Given the description of an element on the screen output the (x, y) to click on. 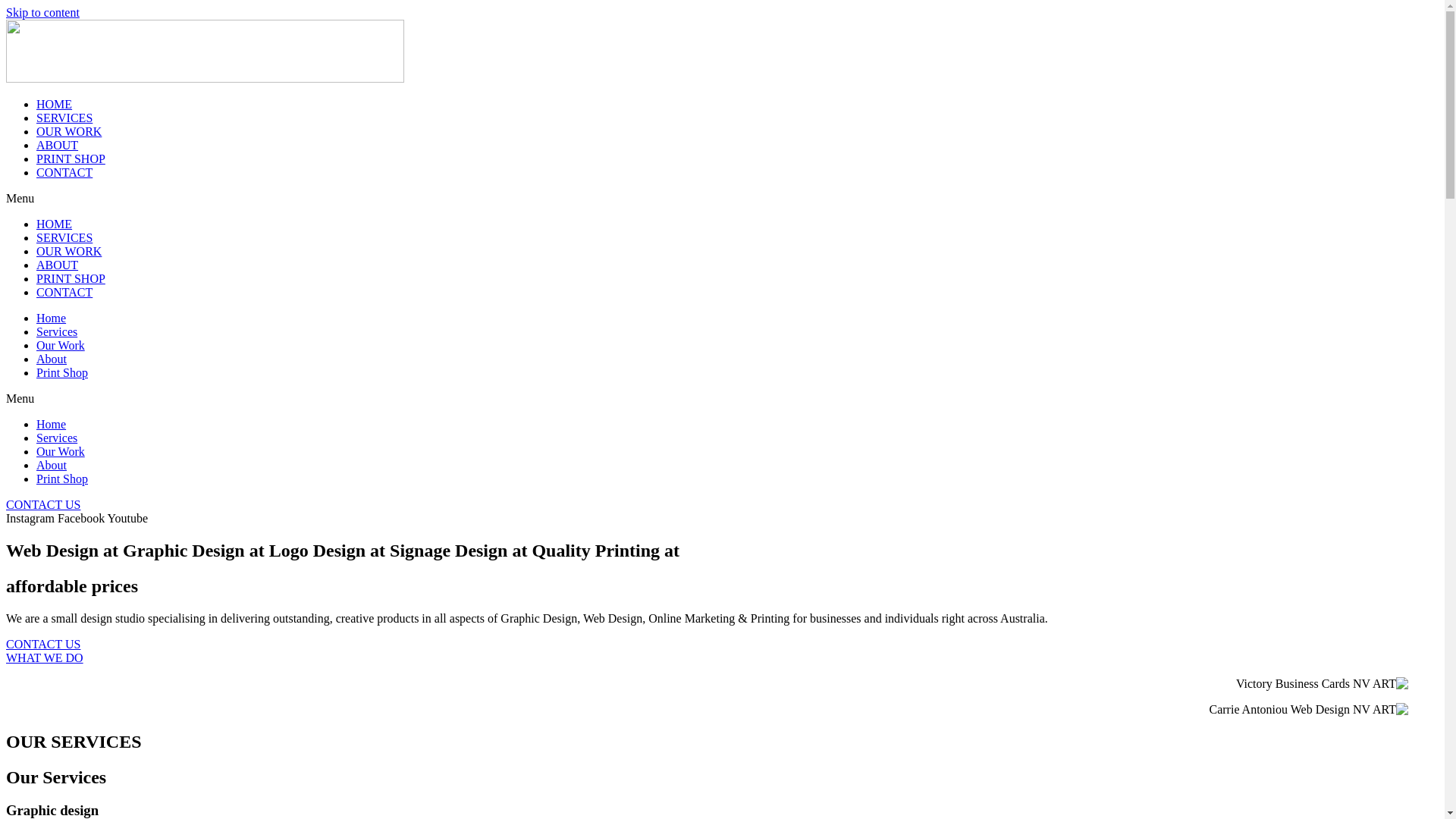
CONTACT US Element type: text (43, 643)
CONTACT Element type: text (64, 172)
ABOUT Element type: text (57, 144)
ABOUT Element type: text (57, 264)
PRINT SHOP Element type: text (70, 278)
HOME Element type: text (54, 103)
About Element type: text (51, 464)
Services Element type: text (56, 437)
PRINT SHOP Element type: text (70, 158)
WHAT WE DO Element type: text (44, 657)
Services Element type: text (56, 331)
OUR WORK Element type: text (68, 131)
Facebook Element type: text (82, 517)
Our Work Element type: text (60, 344)
Print Shop Element type: text (61, 372)
Skip to content Element type: text (42, 12)
CONTACT US Element type: text (43, 504)
About Element type: text (51, 358)
Home Element type: text (50, 317)
Youtube Element type: text (127, 517)
HOME Element type: text (54, 223)
CONTACT Element type: text (64, 291)
Print Shop Element type: text (61, 478)
SERVICES Element type: text (64, 237)
Instagram Element type: text (31, 517)
OUR WORK Element type: text (68, 250)
Home Element type: text (50, 423)
Our Work Element type: text (60, 451)
SERVICES Element type: text (64, 117)
